Given the description of an element on the screen output the (x, y) to click on. 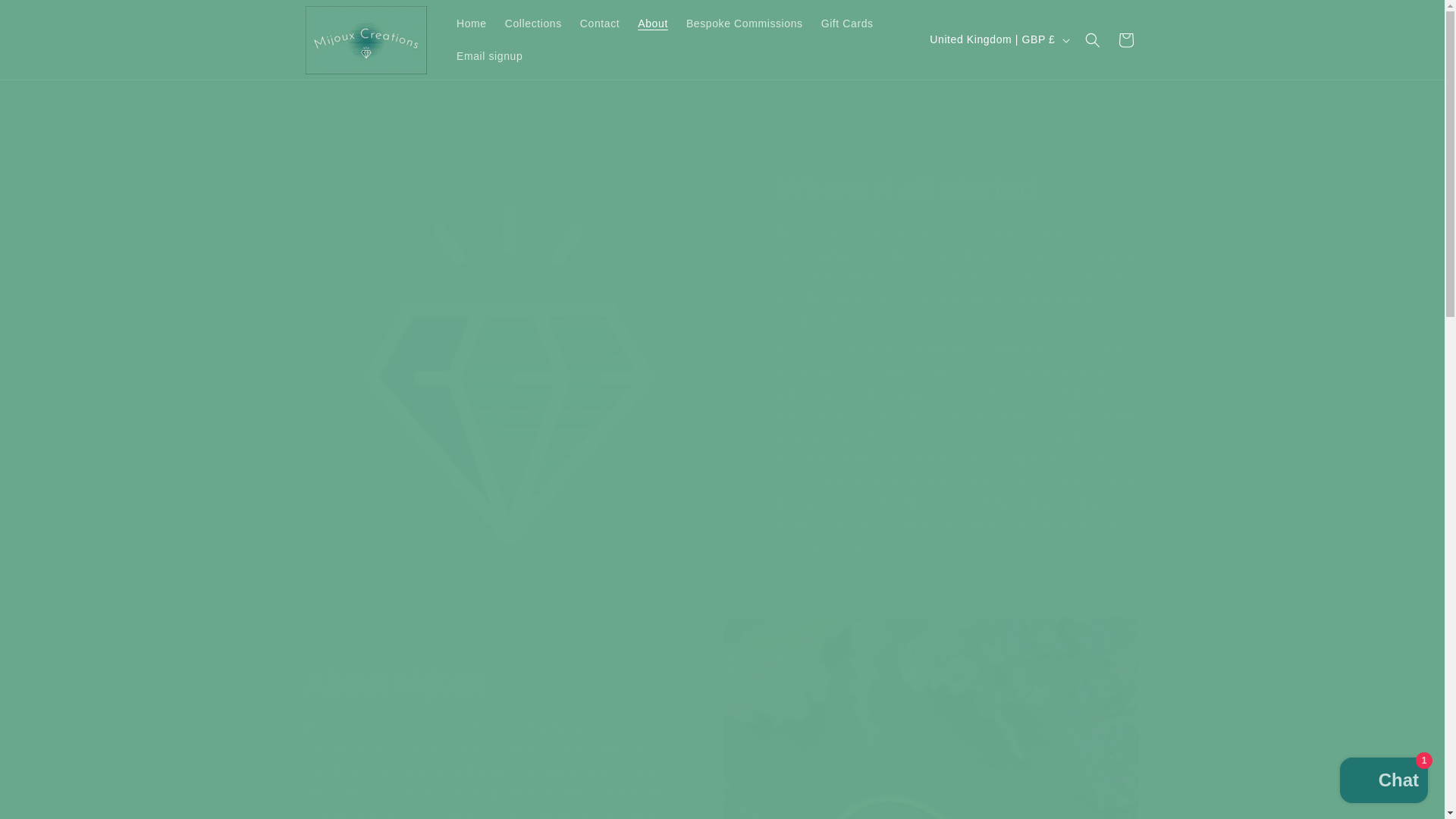
About (652, 23)
Contact (599, 23)
Home (471, 23)
Cart (1124, 39)
Shopify online store chat (1383, 781)
Skip to content (45, 17)
Collections (533, 23)
Gift Cards (847, 23)
Email signup (488, 55)
Bespoke Commissions (744, 23)
